Given the description of an element on the screen output the (x, y) to click on. 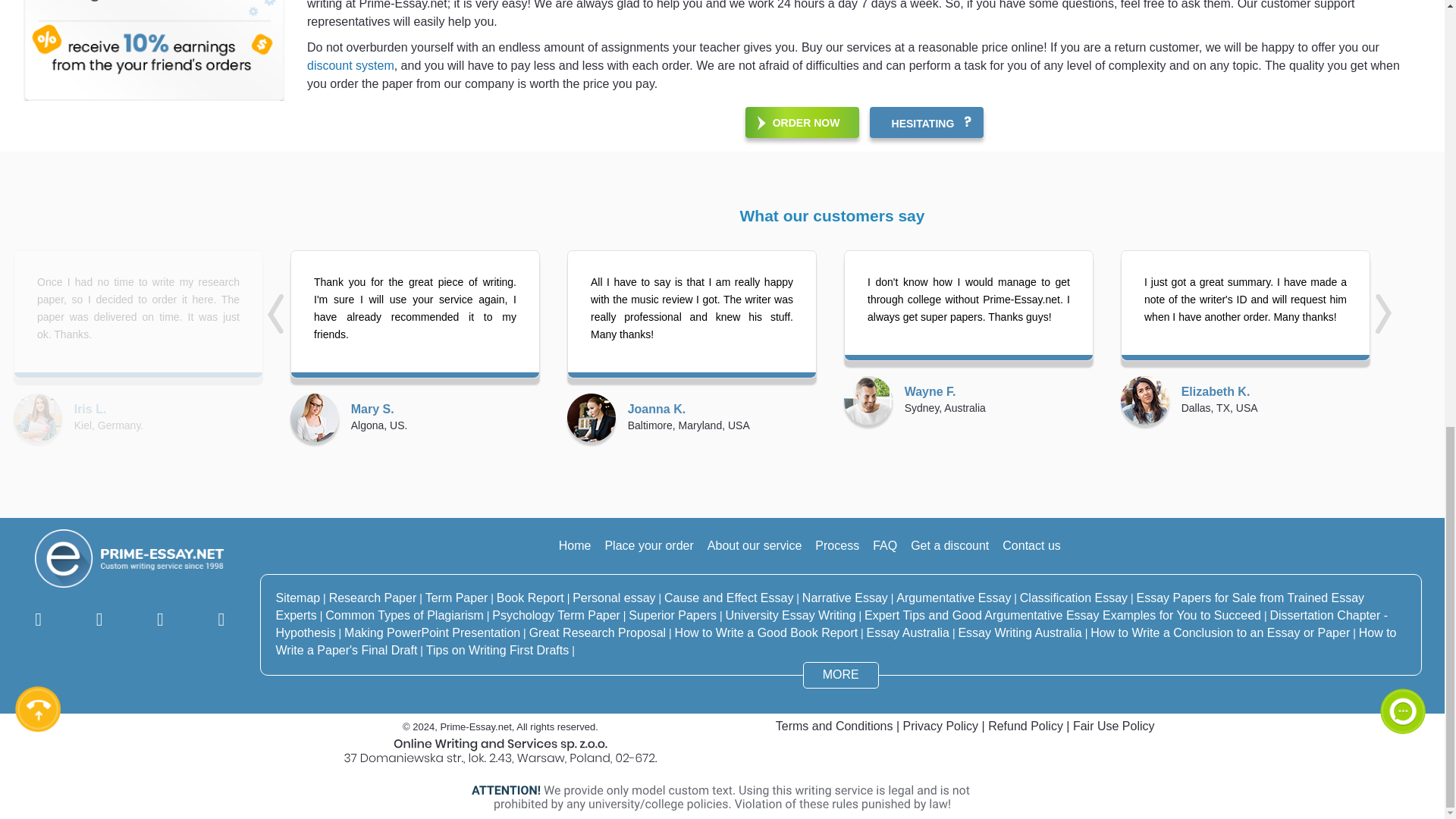
HESITATING (926, 122)
ORDER NOW (802, 122)
discount system (350, 65)
